Given the description of an element on the screen output the (x, y) to click on. 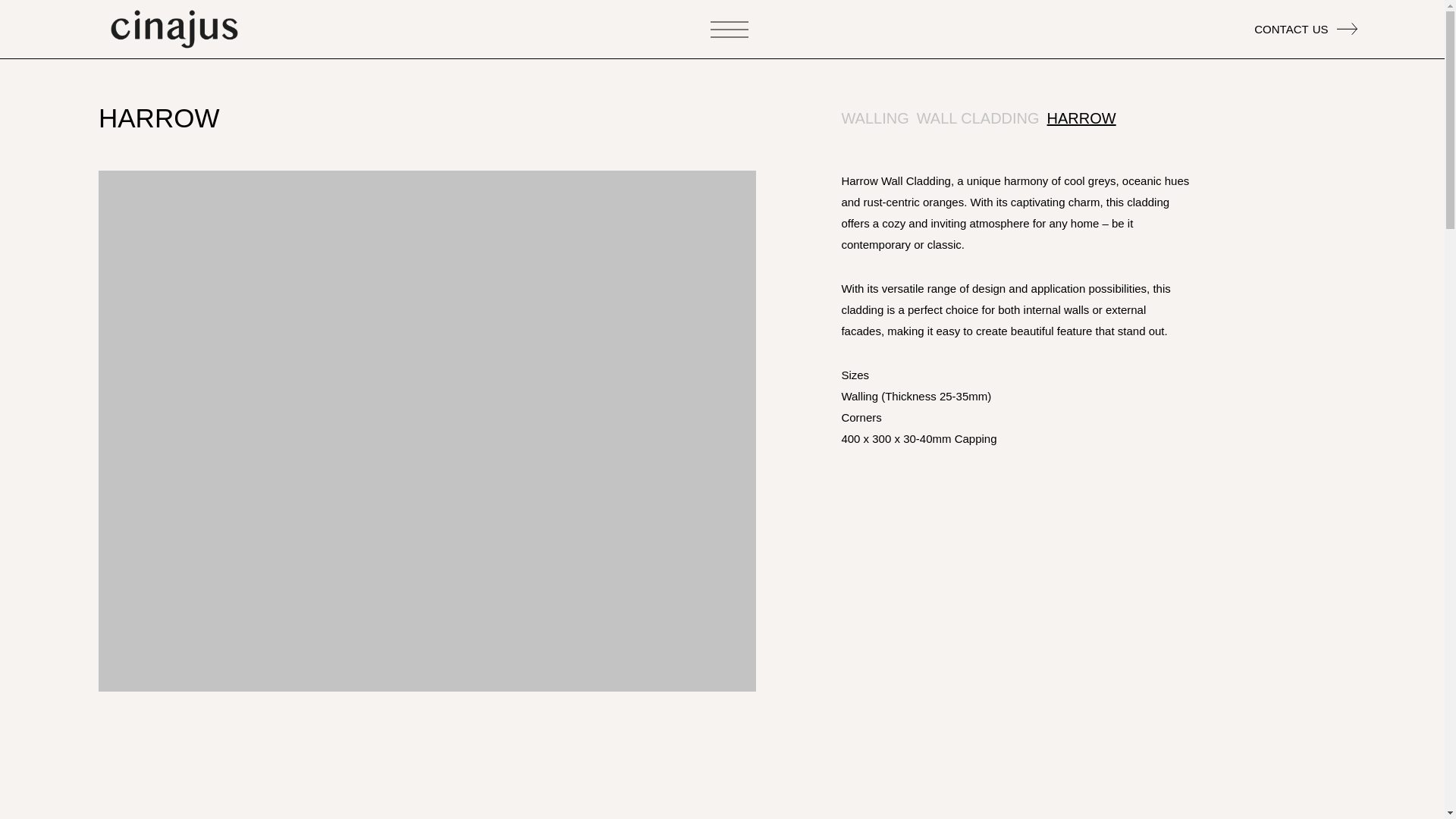
WALLING (1304, 28)
HARROW (874, 118)
WALL CLADDING (1081, 118)
